Given the description of an element on the screen output the (x, y) to click on. 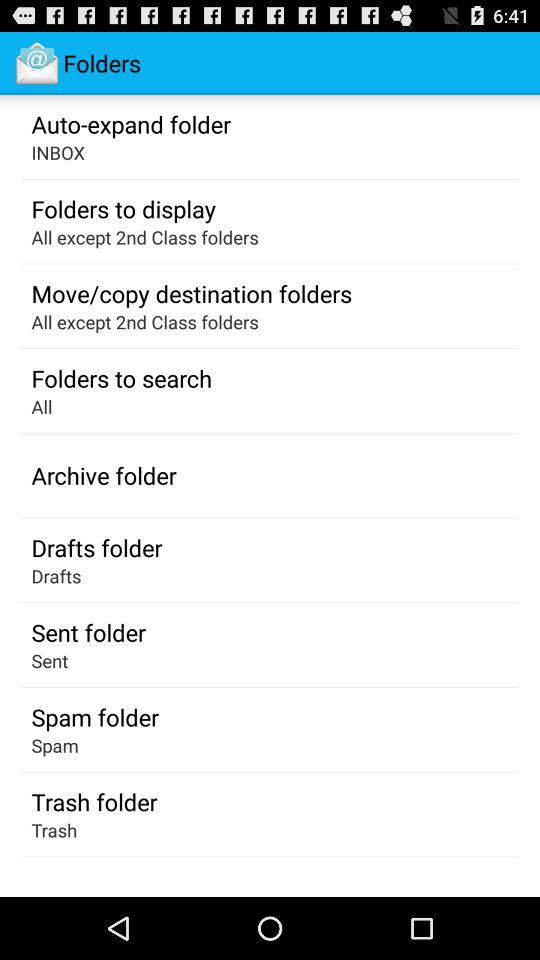
launch icon above the drafts folder (103, 475)
